Given the description of an element on the screen output the (x, y) to click on. 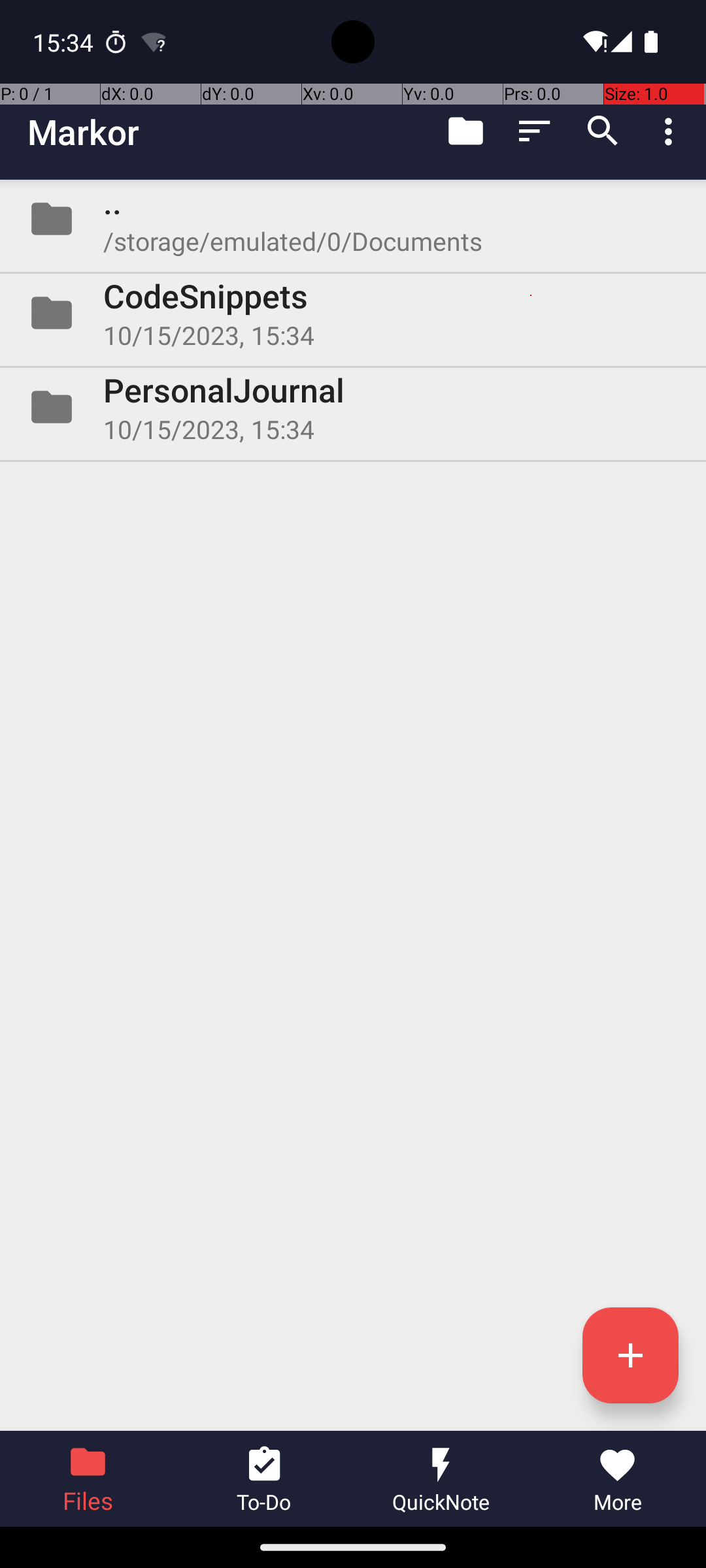
Folder CodeSnippets  Element type: android.widget.LinearLayout (353, 312)
Folder PersonalJournal  Element type: android.widget.LinearLayout (353, 406)
